Given the description of an element on the screen output the (x, y) to click on. 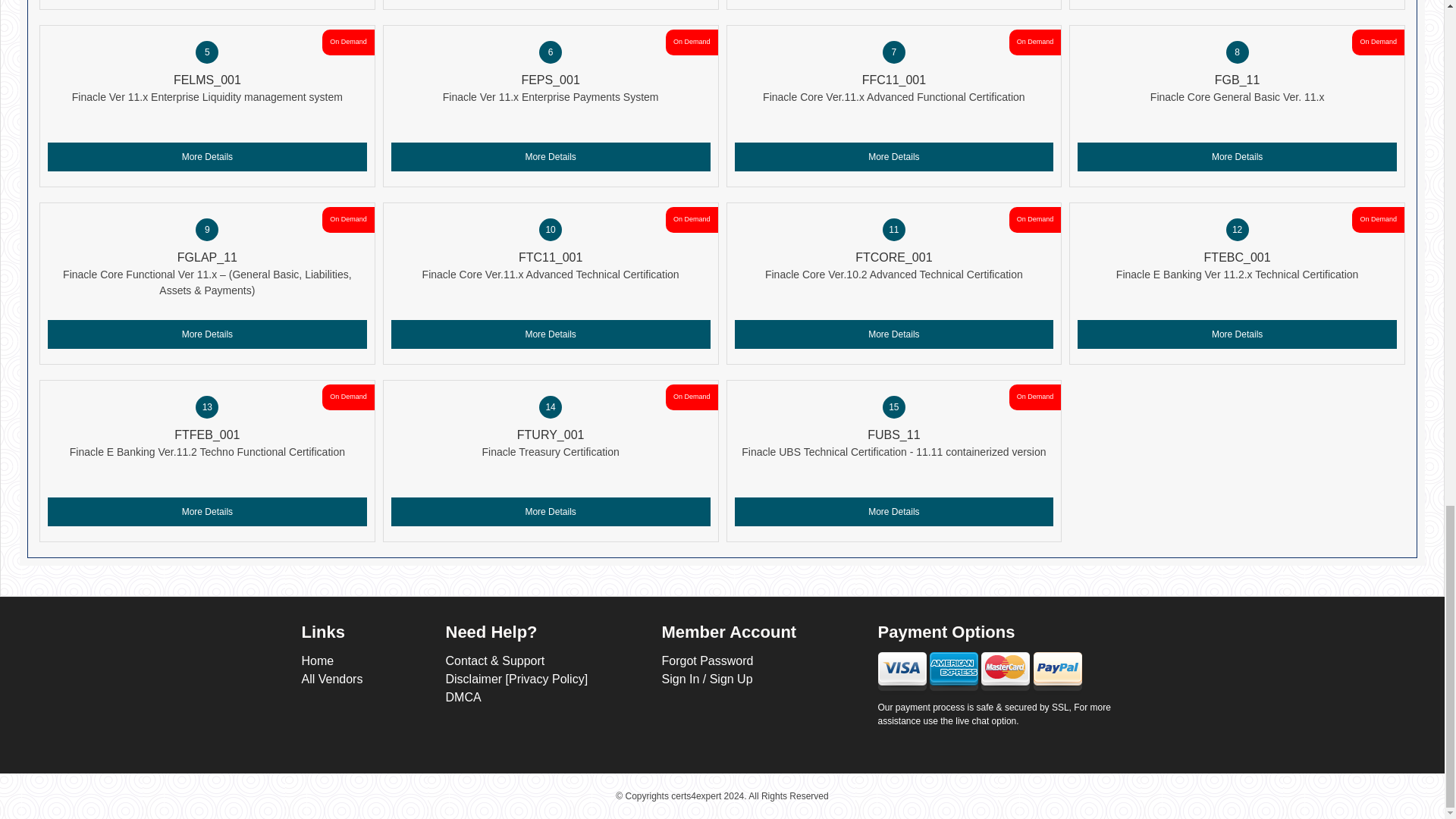
More Details (550, 156)
More Details (1236, 334)
More Details (1236, 156)
More Details (892, 156)
More Details (207, 334)
More Details (892, 334)
More Details (550, 334)
More Details (207, 156)
More Details (207, 511)
